Given the description of an element on the screen output the (x, y) to click on. 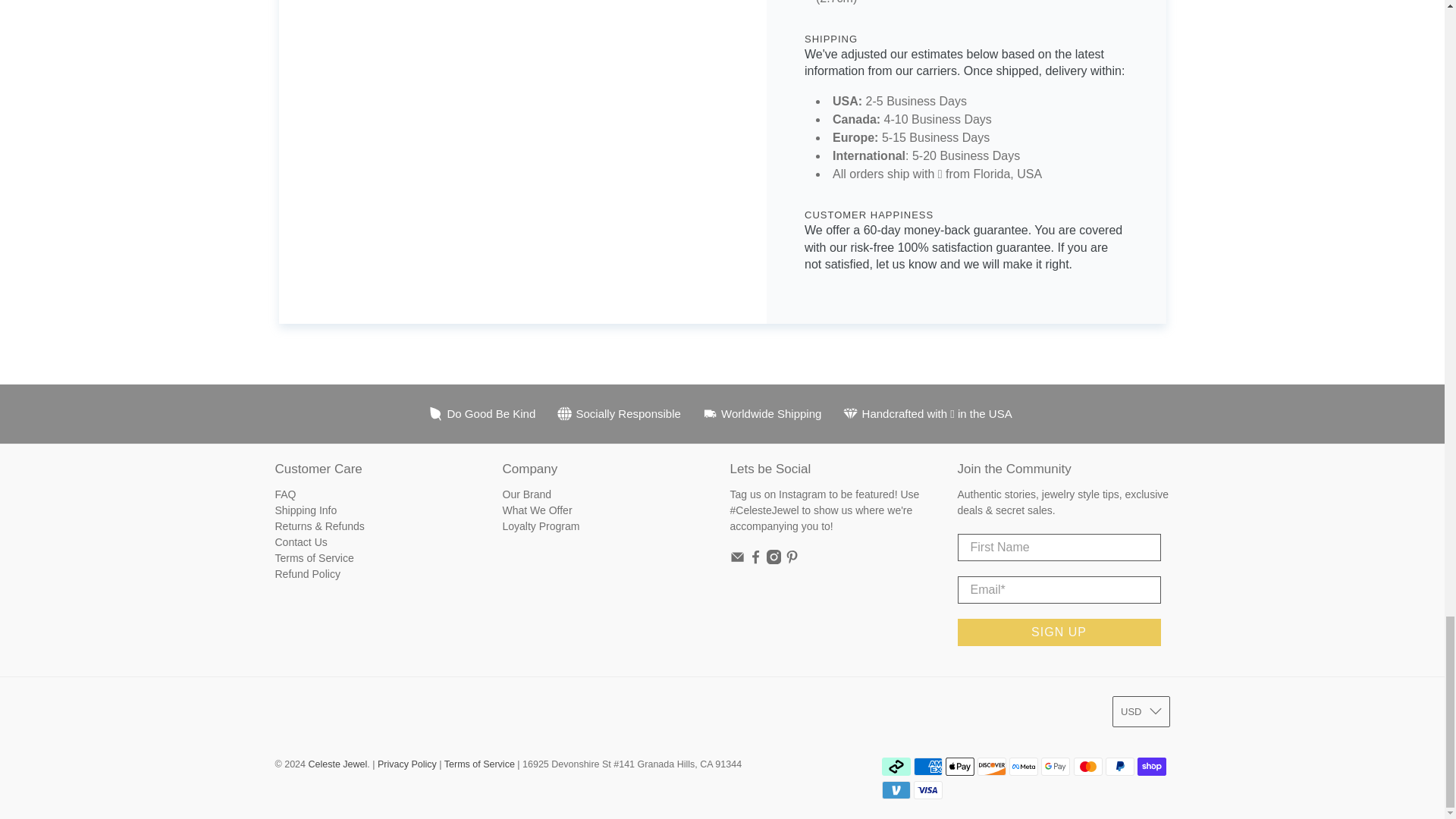
Celeste Jewel on Instagram (773, 560)
Email Celeste Jewel (736, 560)
Celeste Jewel on Facebook (755, 560)
Terms of Service (479, 764)
Celeste Jewel on Pinterest (791, 560)
Privacy (406, 764)
